Given the description of an element on the screen output the (x, y) to click on. 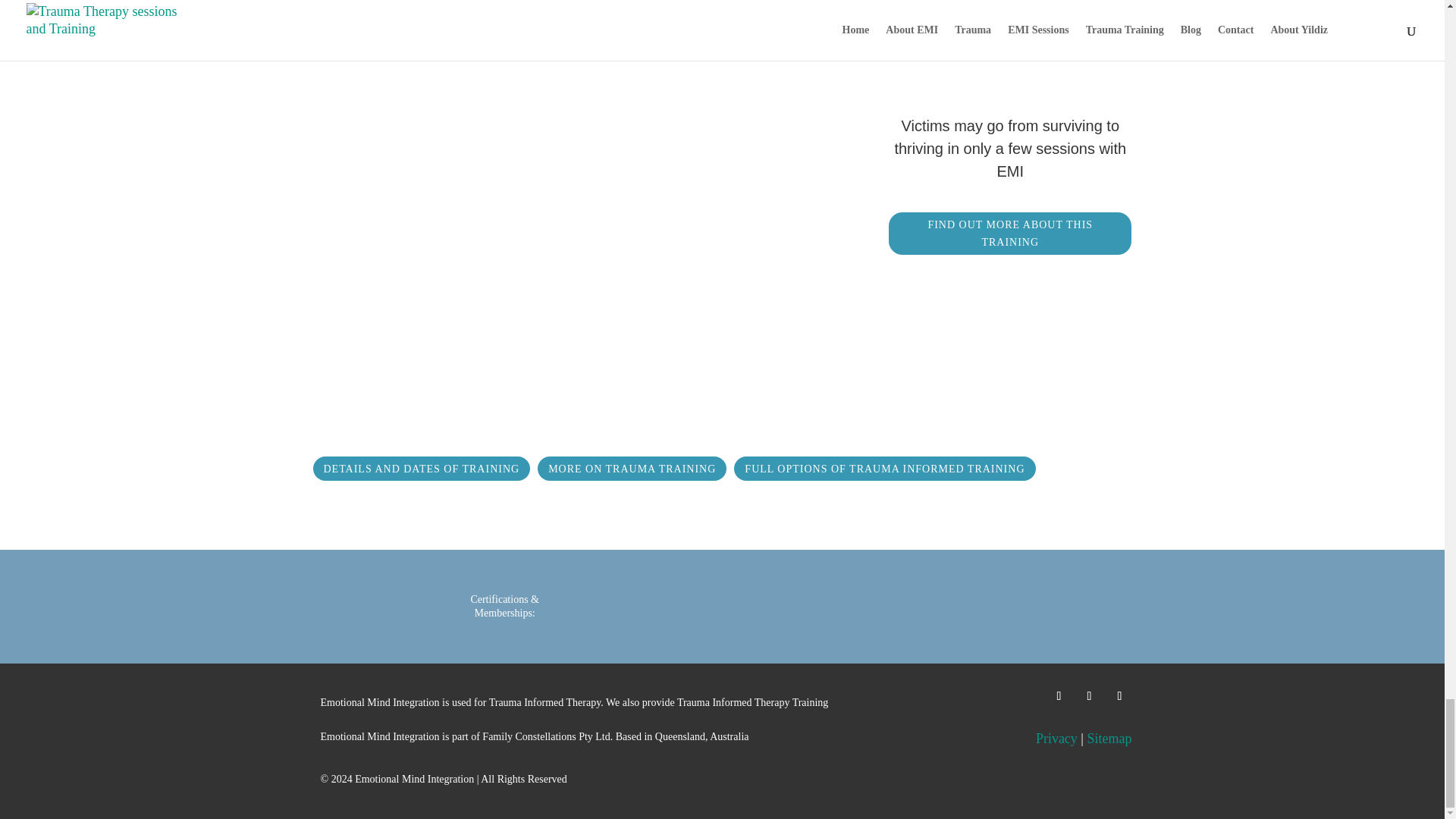
FIND OUT MORE ABOUT THIS TRAINING (1009, 233)
DETAILS AND DATES OF TRAINING (421, 468)
Sitemap (1108, 738)
FULL OPTIONS OF TRAUMA INFORMED TRAINING (884, 468)
Privacy (1056, 738)
MORE ON TRAUMA TRAINING (631, 468)
